Given the description of an element on the screen output the (x, y) to click on. 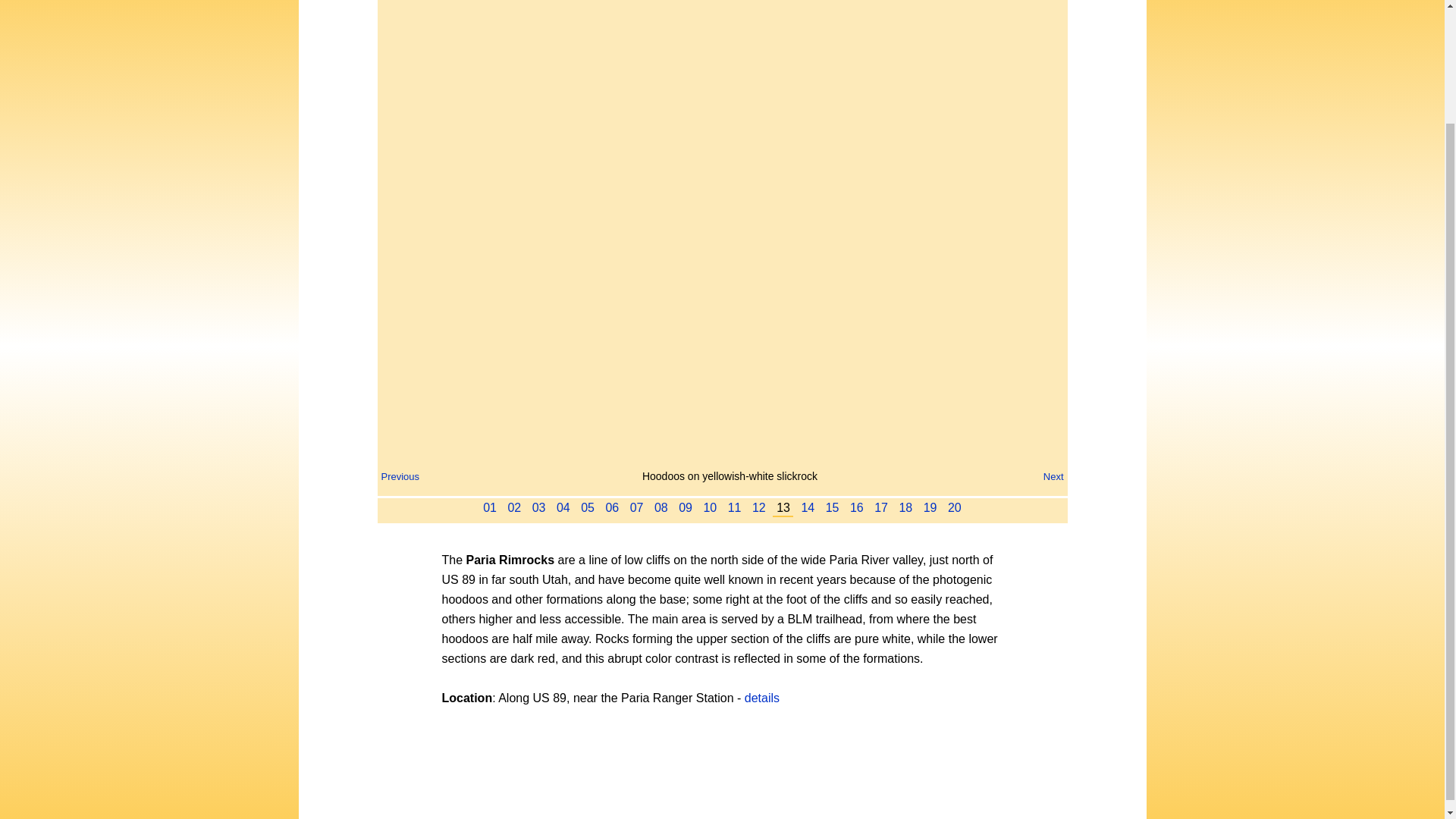
12 (758, 507)
17 (881, 507)
11 (734, 507)
09 (685, 507)
06 (611, 507)
04 (563, 507)
07 (636, 507)
10 (709, 507)
02 (513, 507)
Next (1053, 476)
03 (539, 507)
Previous (399, 476)
01 (489, 507)
15 (832, 507)
19 (930, 507)
